Given the description of an element on the screen output the (x, y) to click on. 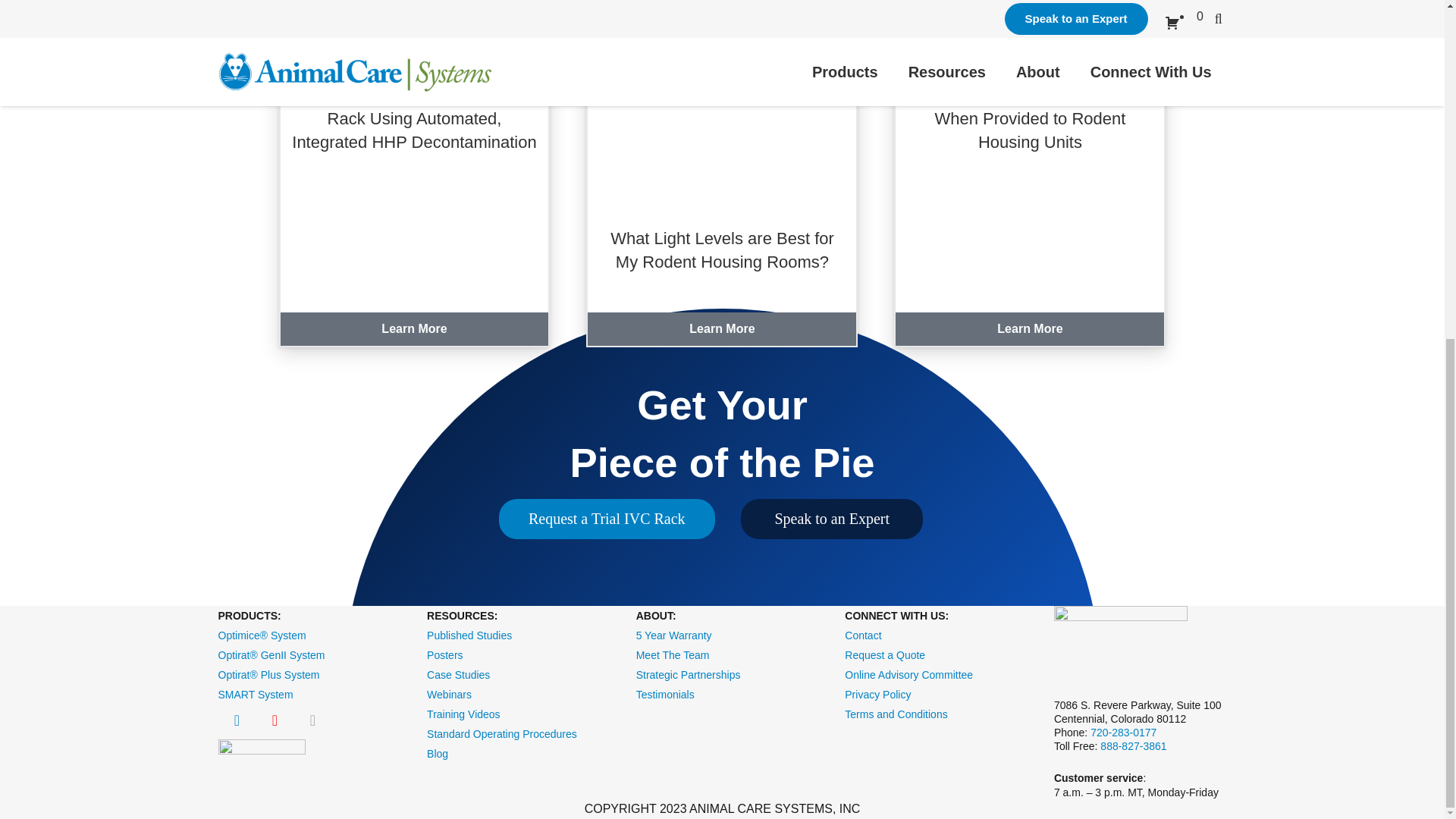
Email (312, 720)
YouTube (275, 720)
LinkedIn (237, 720)
